Given the description of an element on the screen output the (x, y) to click on. 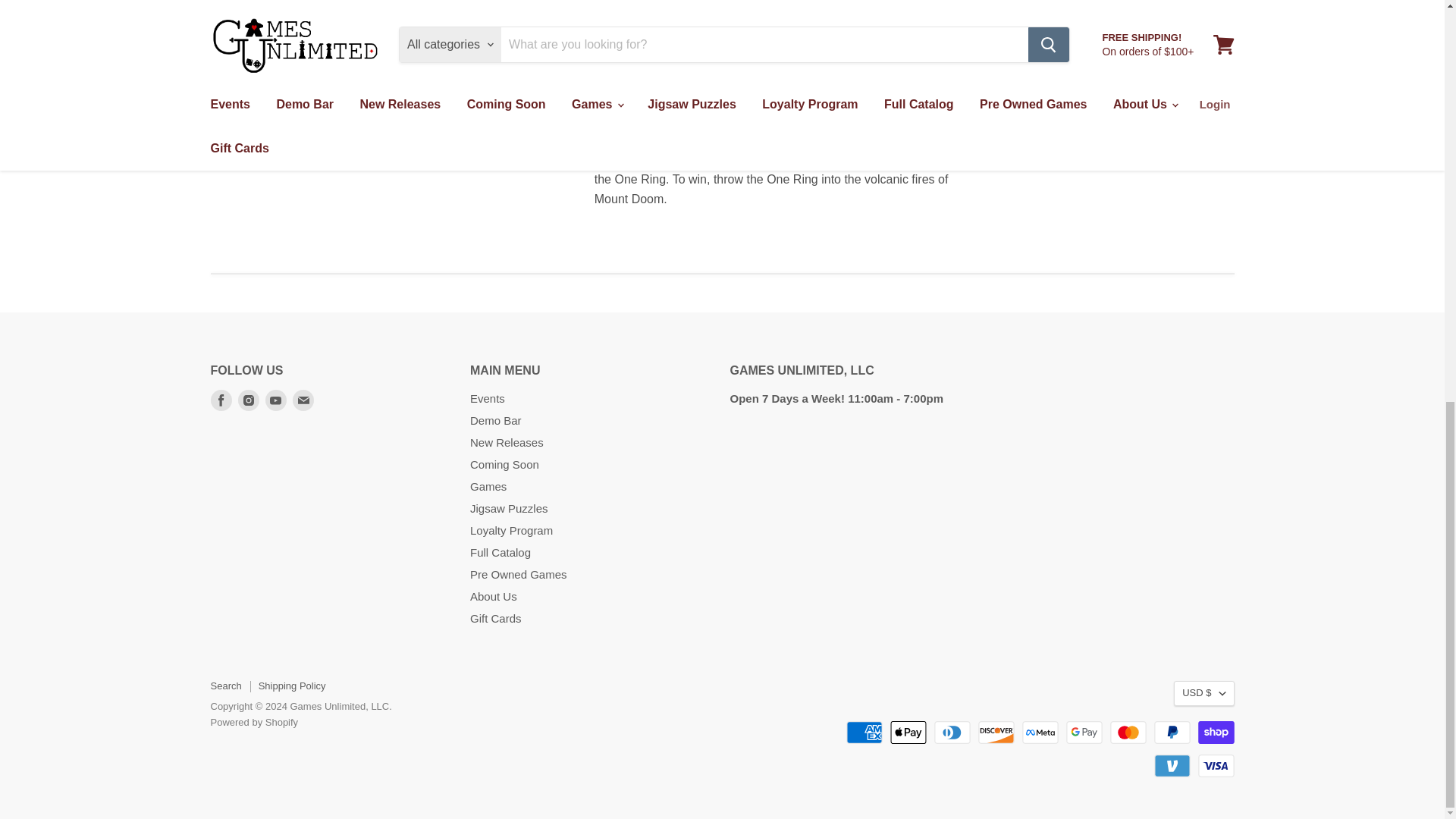
Email (303, 400)
Youtube (275, 400)
Discover (996, 732)
Meta Pay (1040, 732)
Instagram (248, 400)
Facebook (221, 400)
Diners Club (952, 732)
American Express (863, 732)
Apple Pay (907, 732)
